Given the description of an element on the screen output the (x, y) to click on. 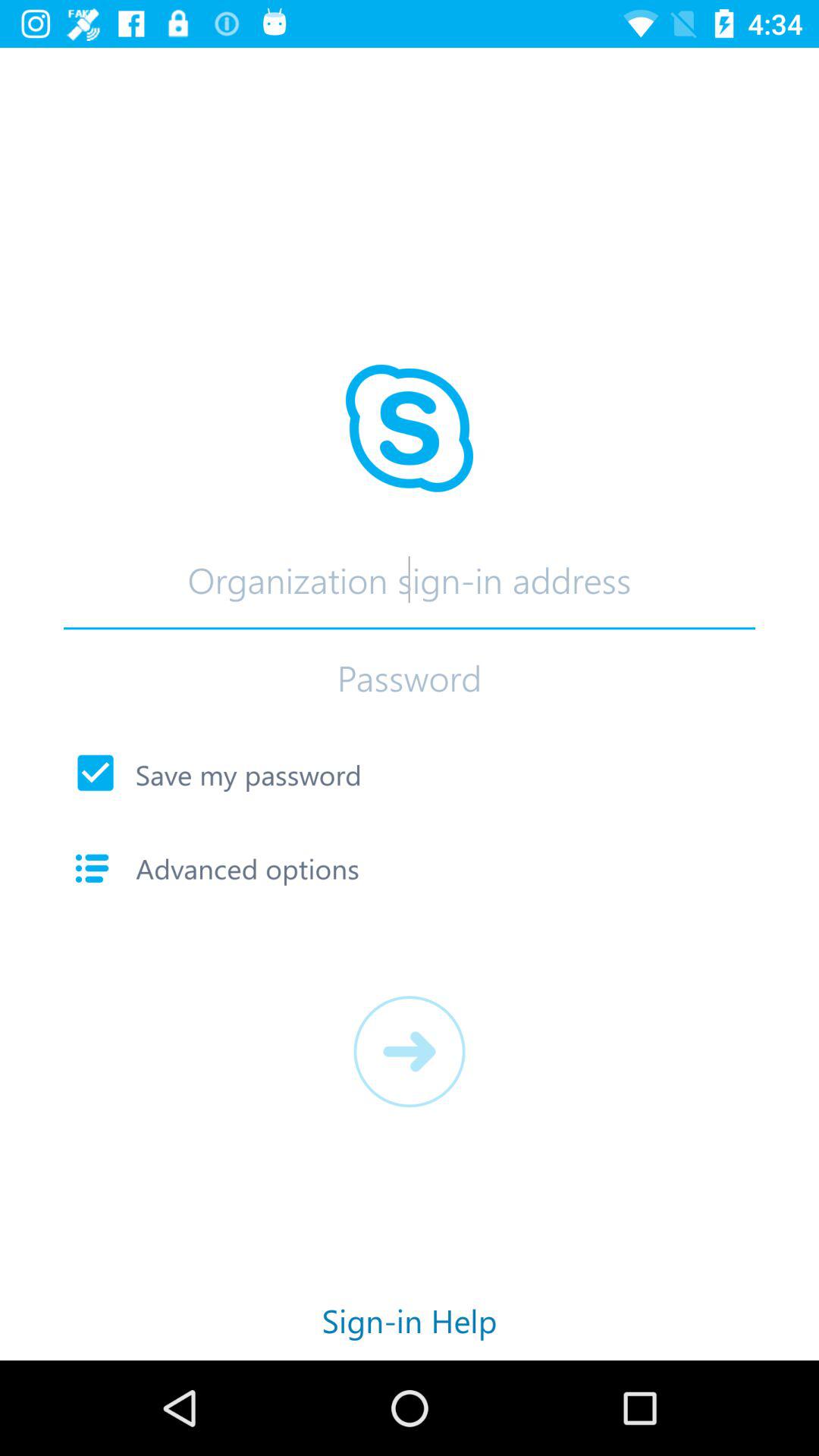
turn on app next to save my password (95, 772)
